Given the description of an element on the screen output the (x, y) to click on. 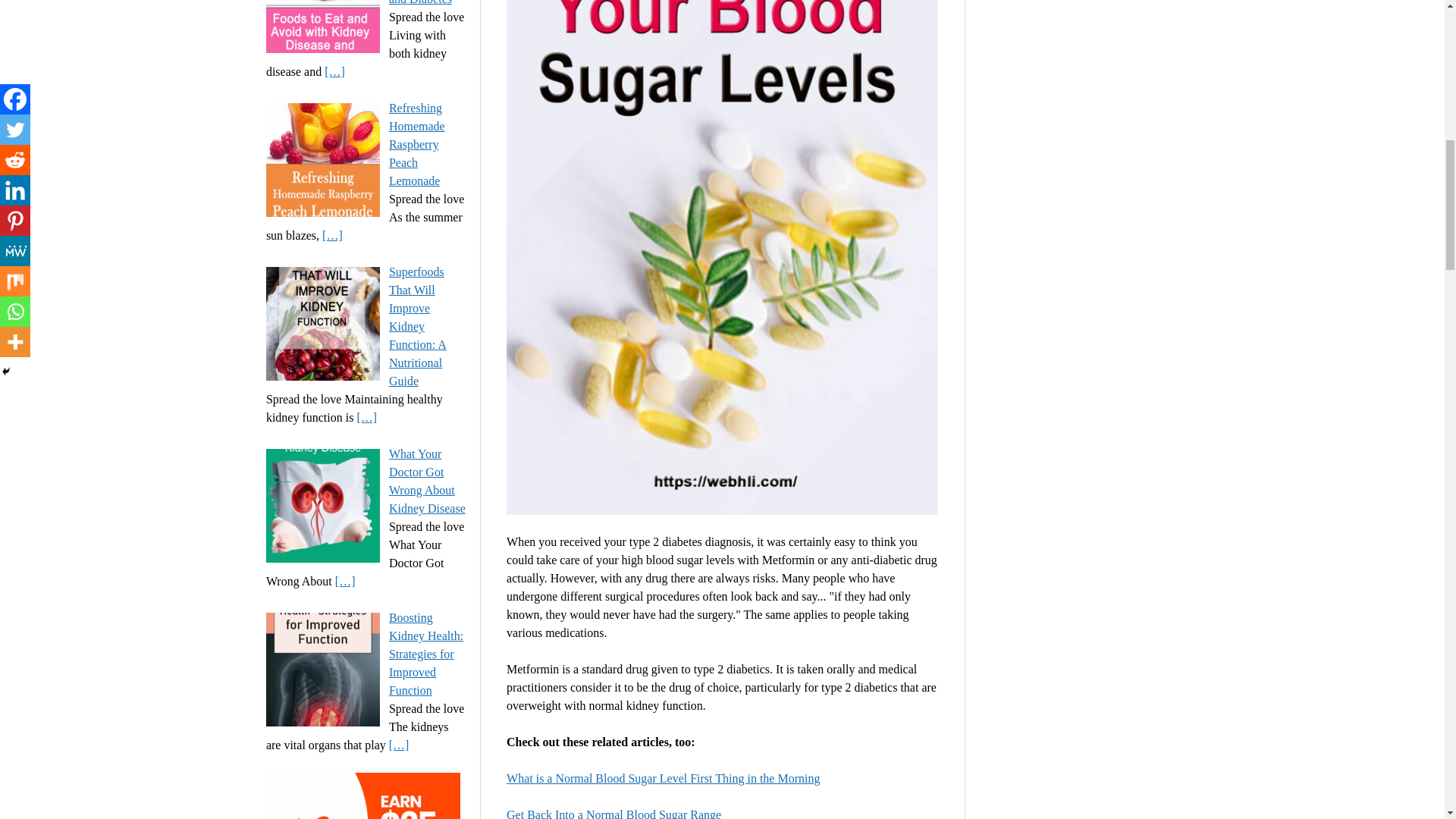
Foods to Eat and Avoid with Kidney Disease and Diabetes (426, 2)
What Your Doctor Got Wrong About Kidney Disease (426, 481)
